Given the description of an element on the screen output the (x, y) to click on. 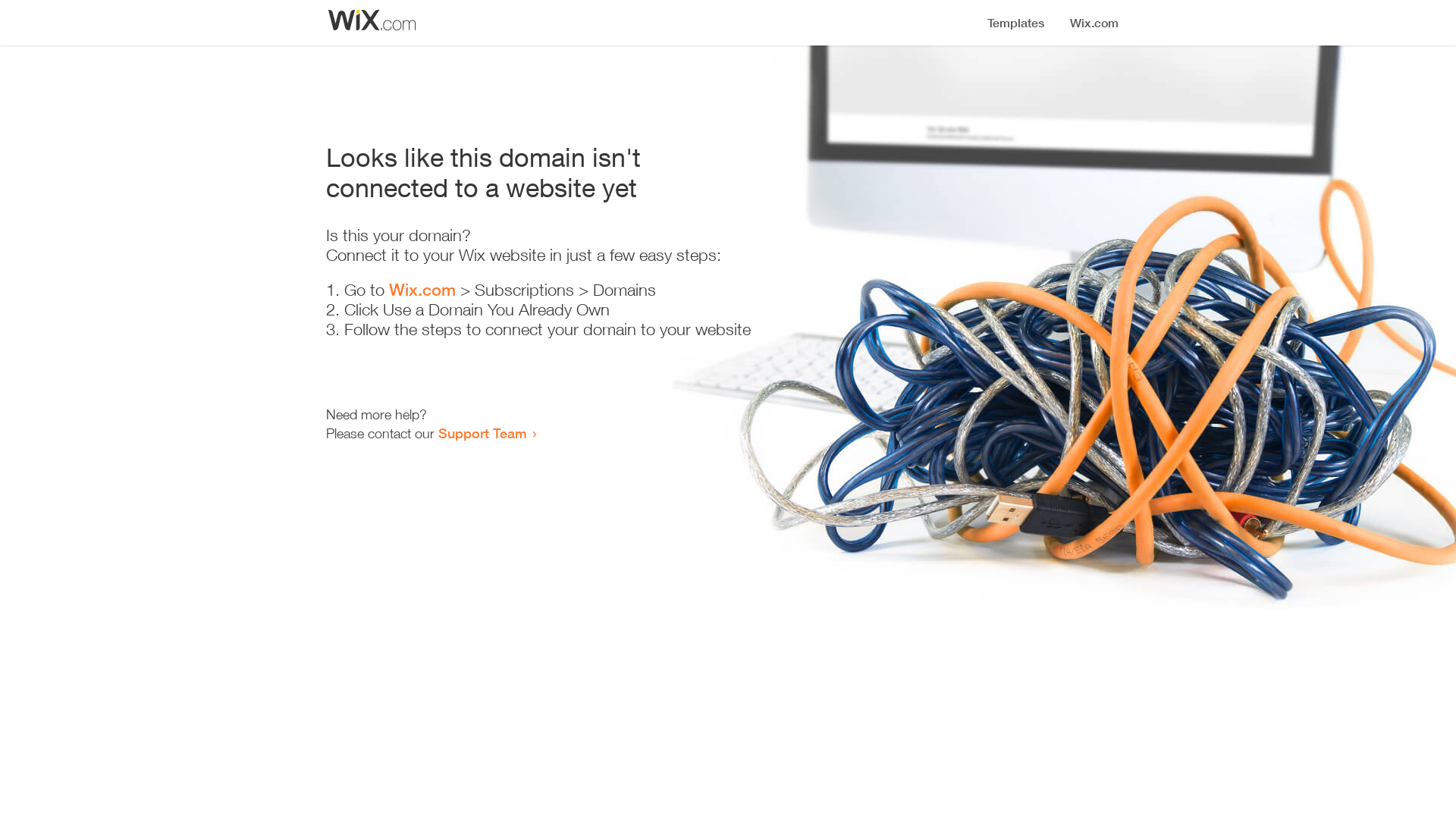
Wix.com Element type: text (422, 289)
Support Team Element type: text (482, 432)
